Given the description of an element on the screen output the (x, y) to click on. 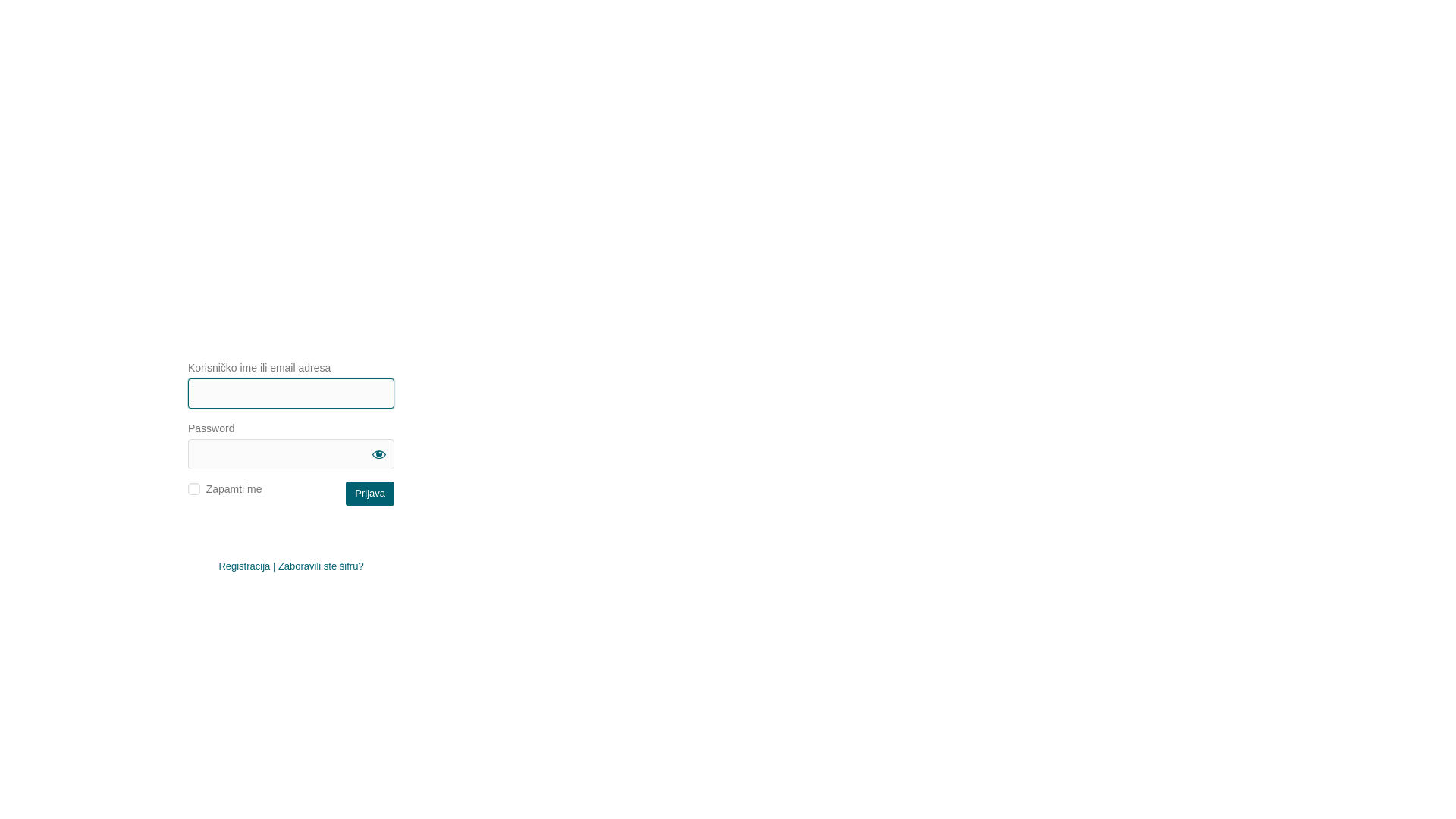
Prijava Element type: text (369, 493)
Registracija Element type: text (243, 565)
